Given the description of an element on the screen output the (x, y) to click on. 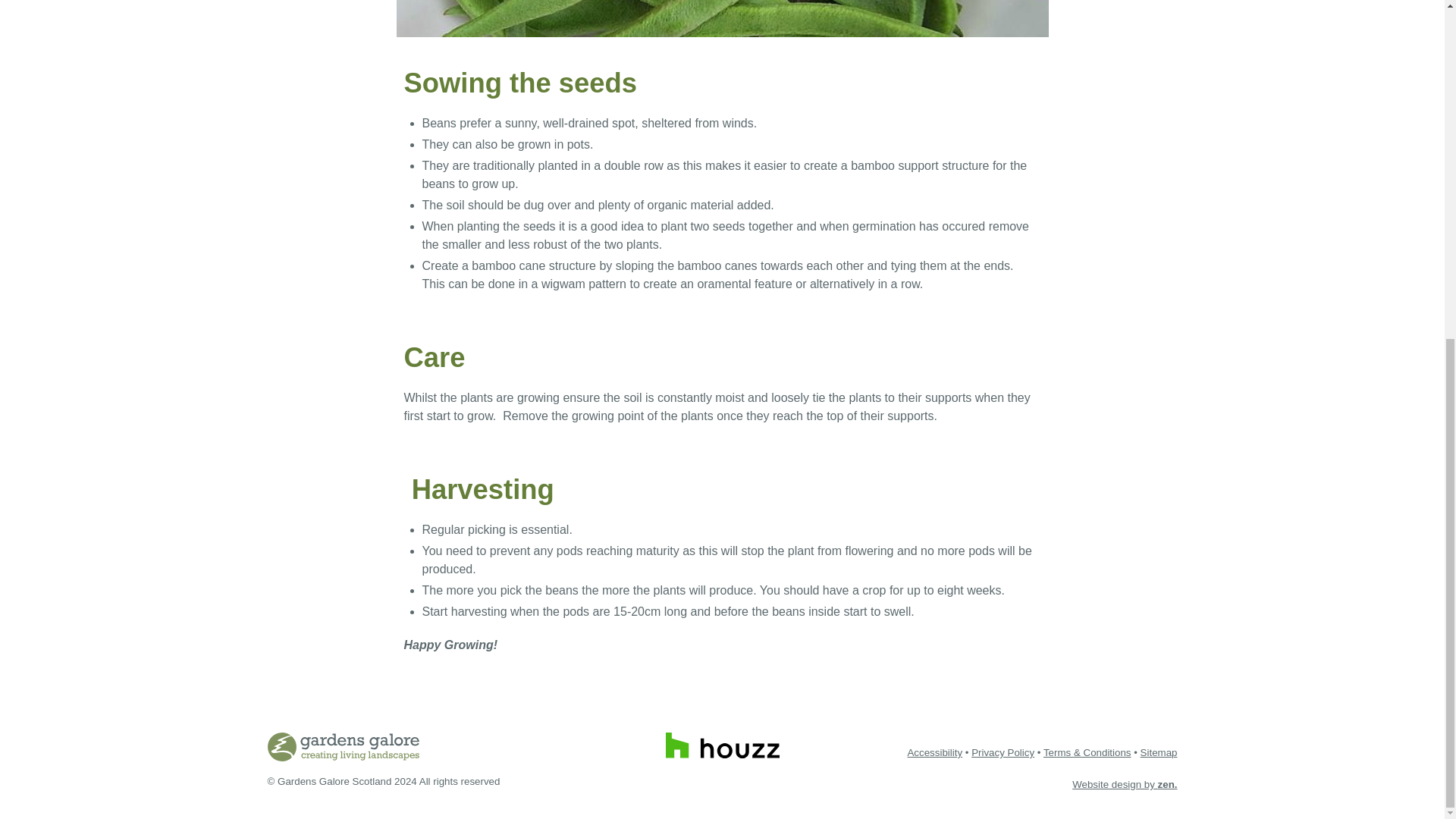
Visit our Houzz profile (721, 745)
Website design by zen. (1123, 784)
